Given the description of an element on the screen output the (x, y) to click on. 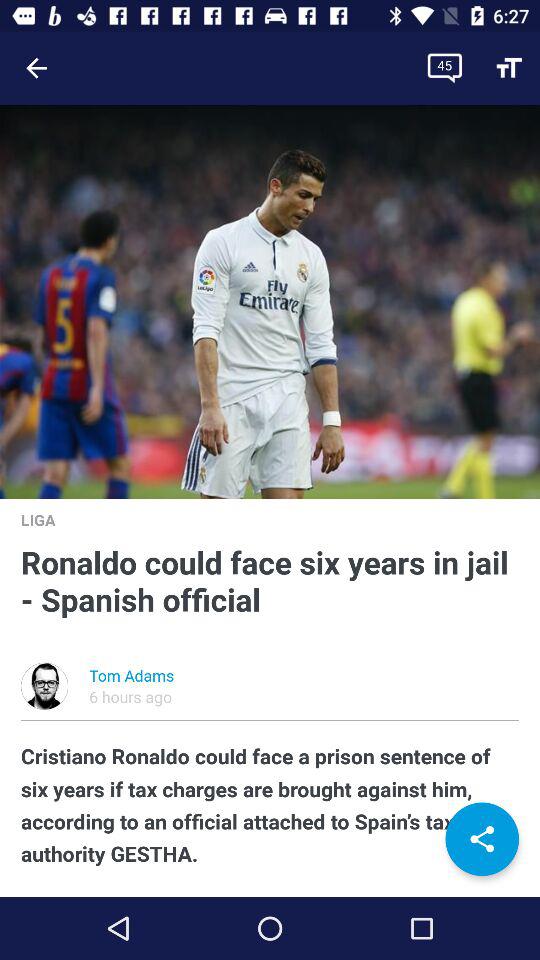
turn off the item at the top left corner (36, 68)
